Given the description of an element on the screen output the (x, y) to click on. 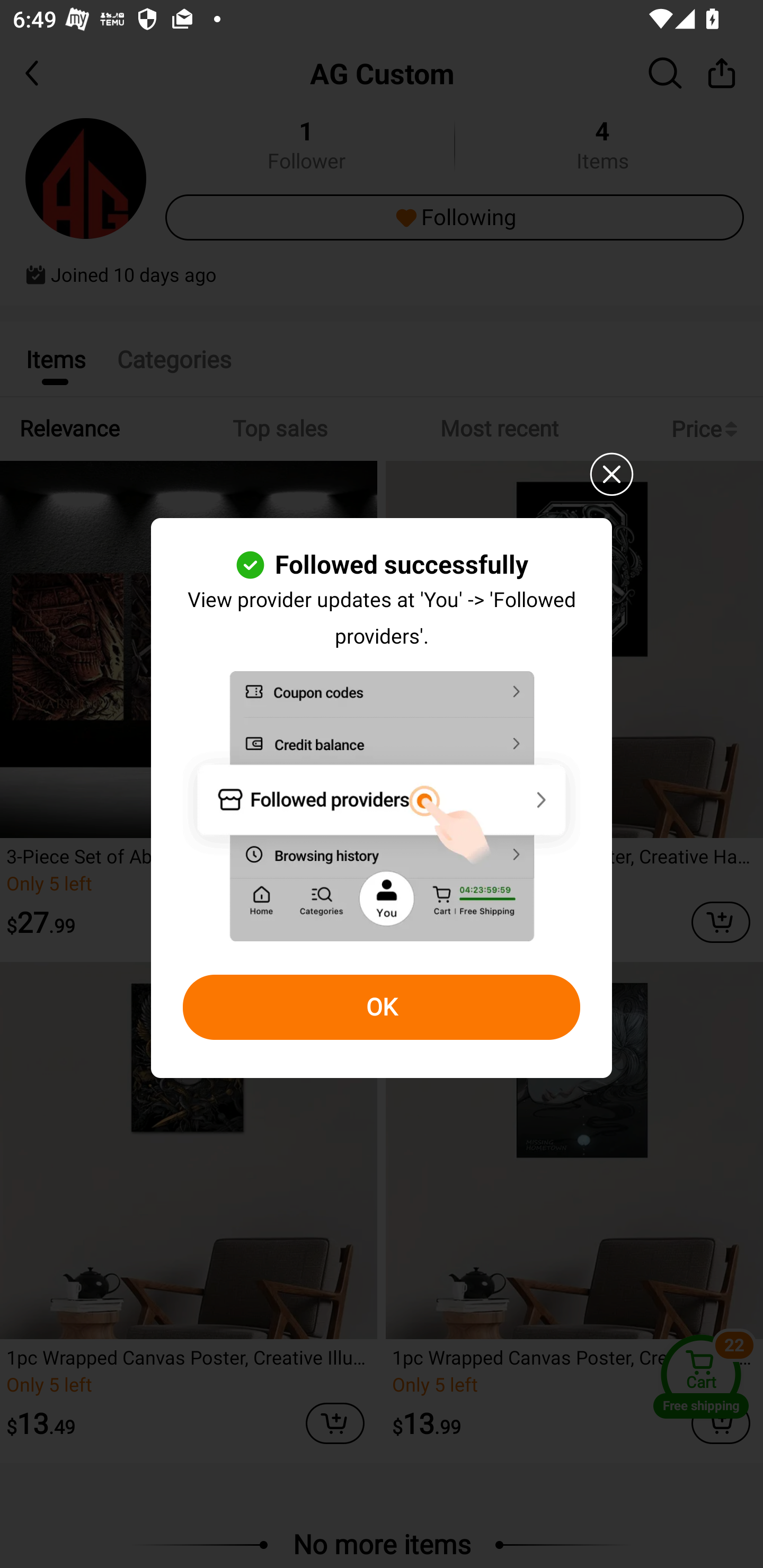
OK (381, 1007)
